Given the description of an element on the screen output the (x, y) to click on. 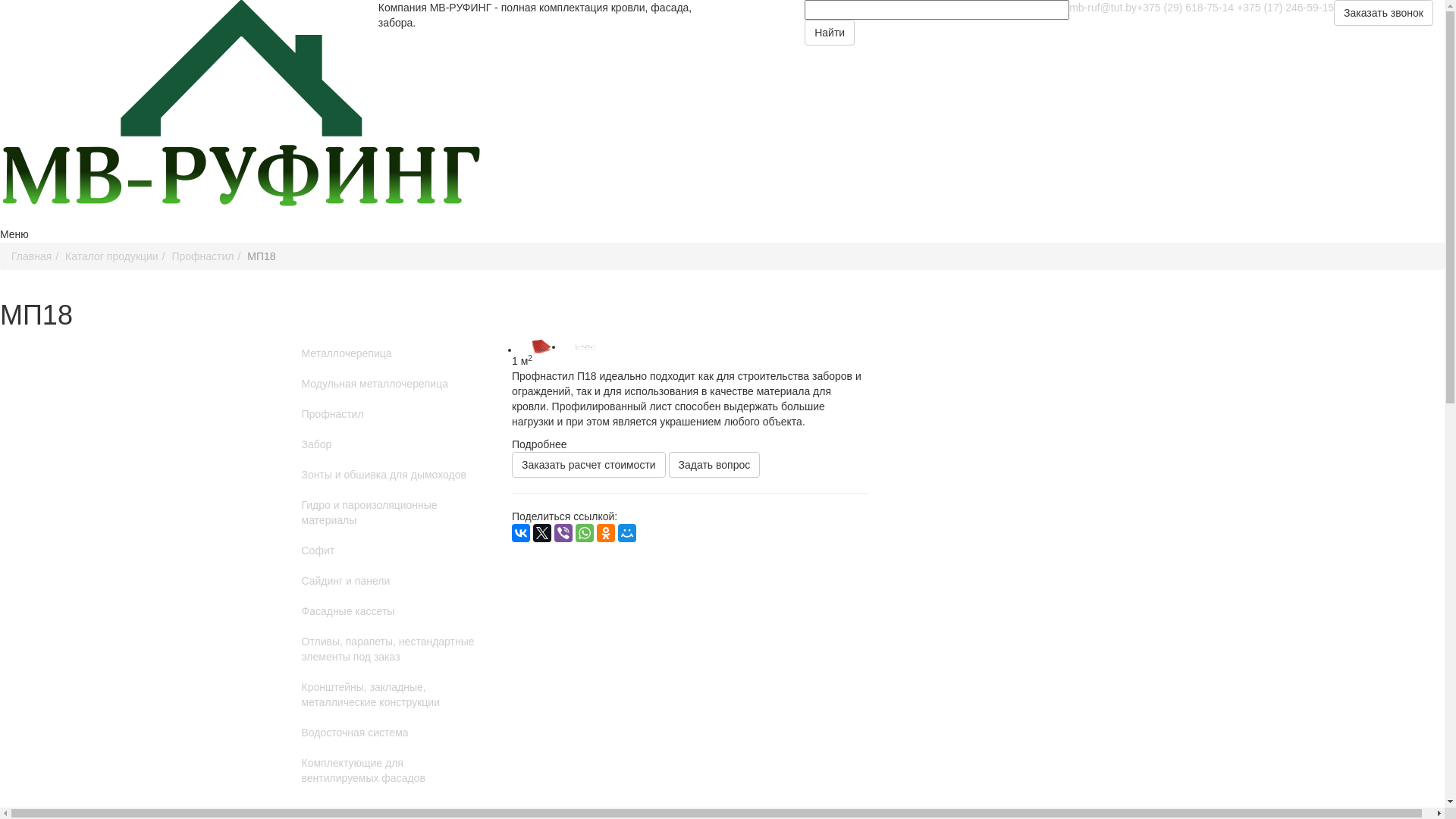
Twitter Element type: hover (542, 533)
Viber Element type: hover (563, 533)
WhatsApp Element type: hover (584, 533)
+375 (17) 246-59-15 Element type: text (1284, 7)
mb-ruf@tut.by Element type: text (1102, 7)
+375 (29) 618-75-14 Element type: text (1184, 7)
